Given the description of an element on the screen output the (x, y) to click on. 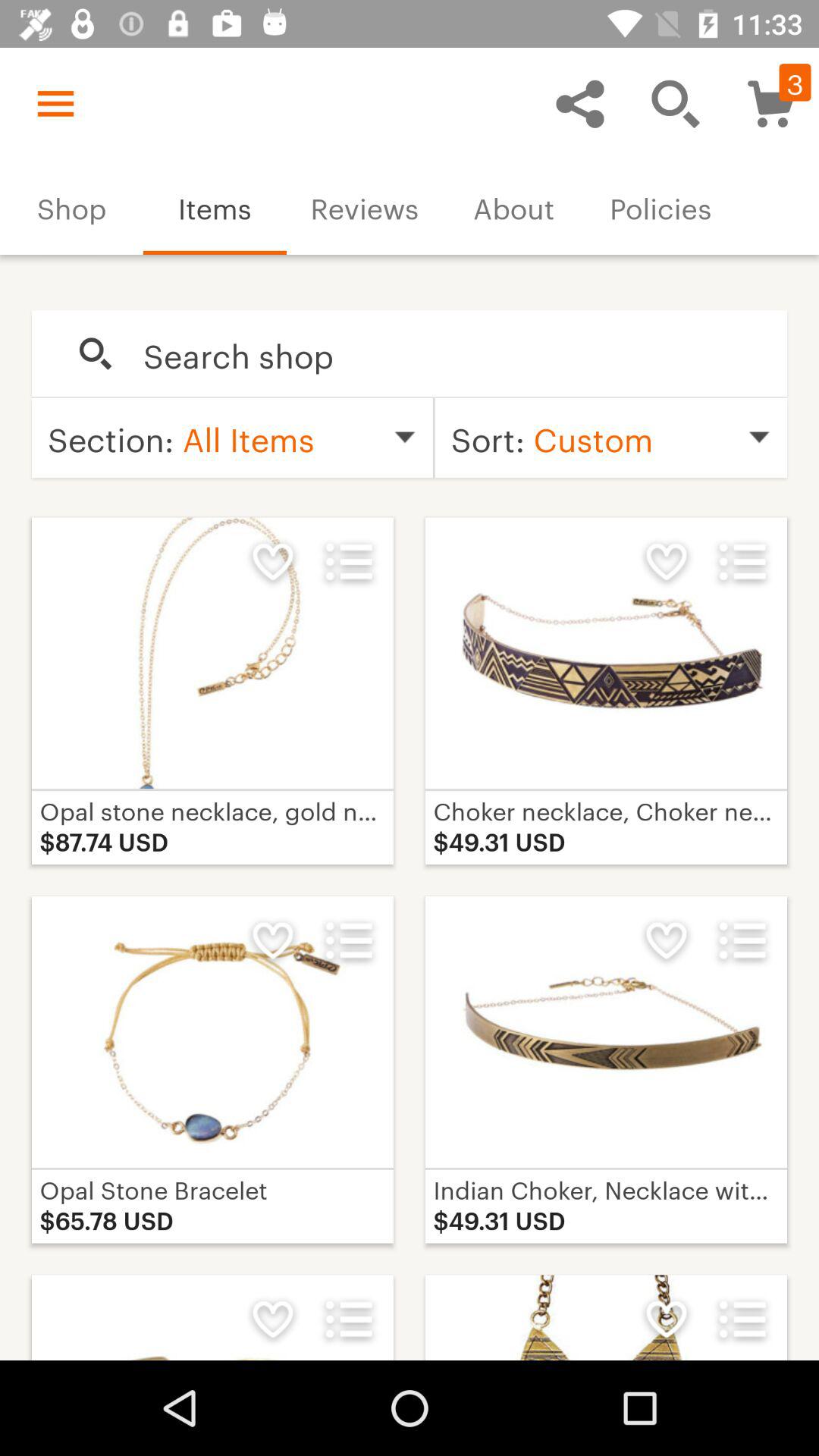
search shop (449, 354)
